Given the description of an element on the screen output the (x, y) to click on. 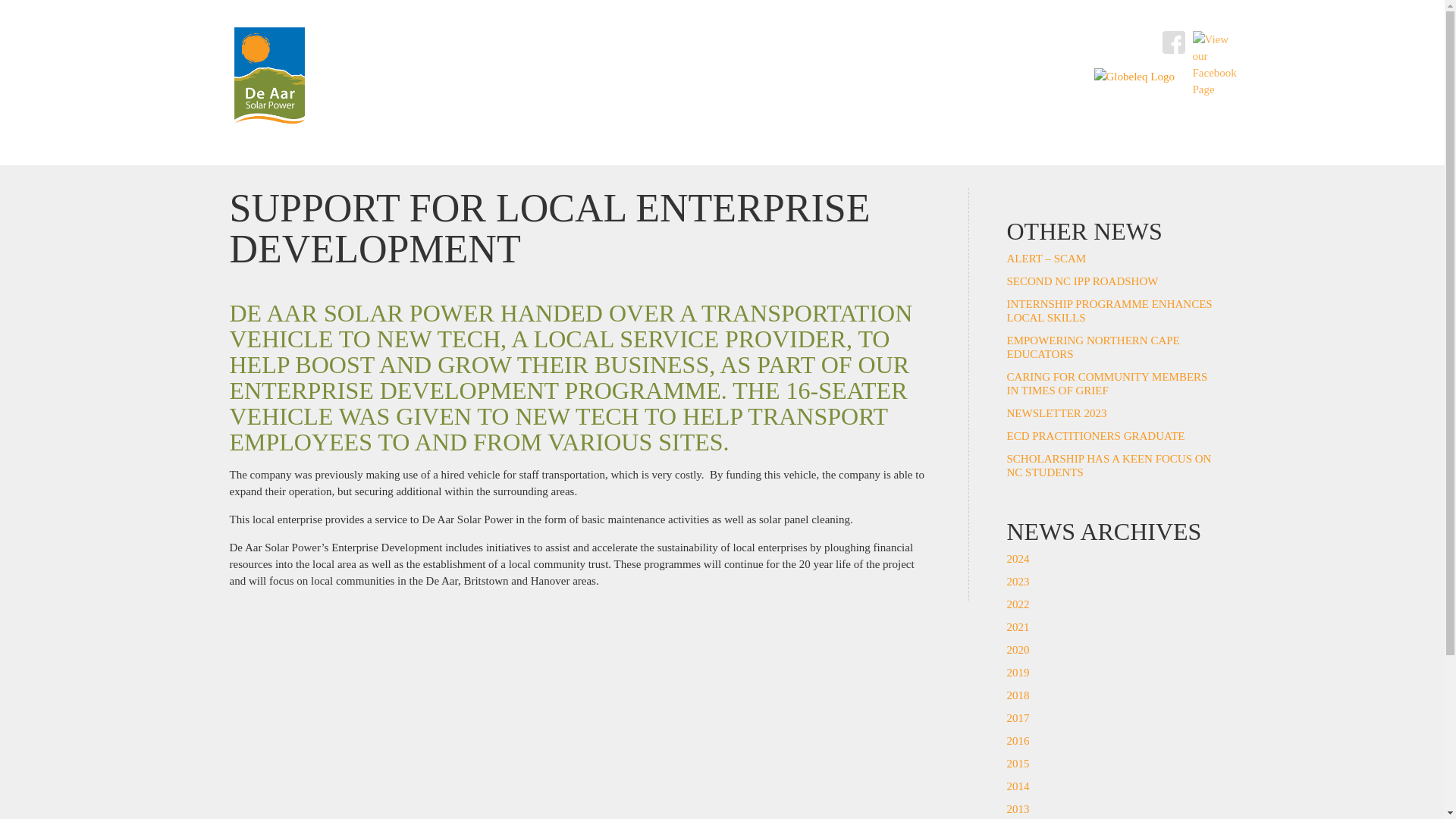
CARING FOR COMMUNITY MEMBERS IN TIMES OF GRIEF (1107, 383)
SCHOLARSHIP HAS A KEEN FOCUS ON NC STUDENTS (1109, 465)
De Aar Solar Power on Facebook (1203, 42)
De Aar Solar Power on Facebook (1173, 42)
Globeleq (1133, 76)
EMPOWERING NORTHERN CAPE EDUCATORS (1093, 347)
SECOND NC IPP ROADSHOW (1082, 281)
INTERNSHIP PROGRAMME ENHANCES LOCAL SKILLS (1109, 310)
NEWSLETTER 2023 (1056, 413)
ECD PRACTITIONERS GRADUATE (1096, 435)
